Given the description of an element on the screen output the (x, y) to click on. 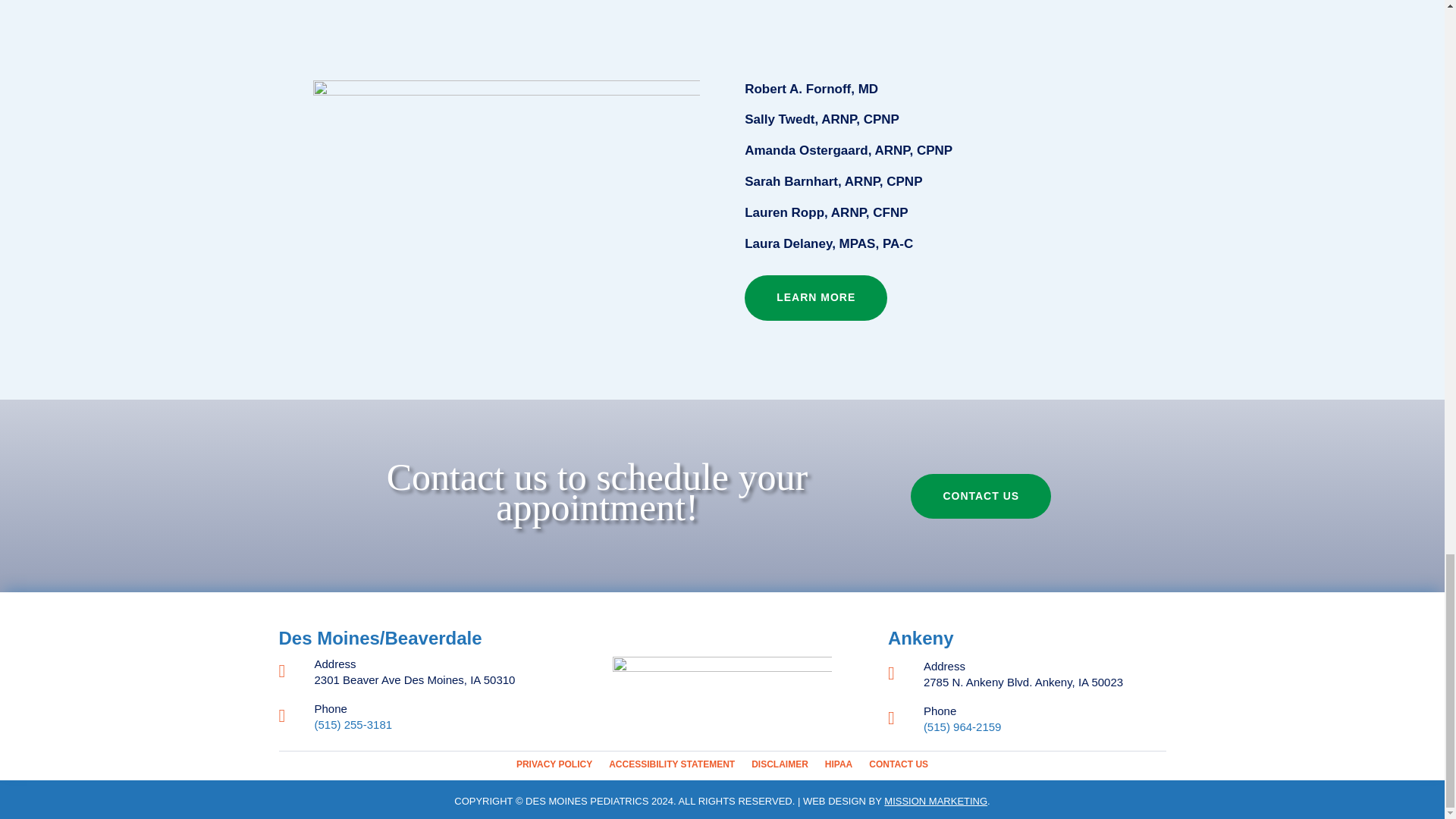
LEARN MORE (815, 298)
Untitled-1 (722, 674)
CONTACT US (981, 496)
